Given the description of an element on the screen output the (x, y) to click on. 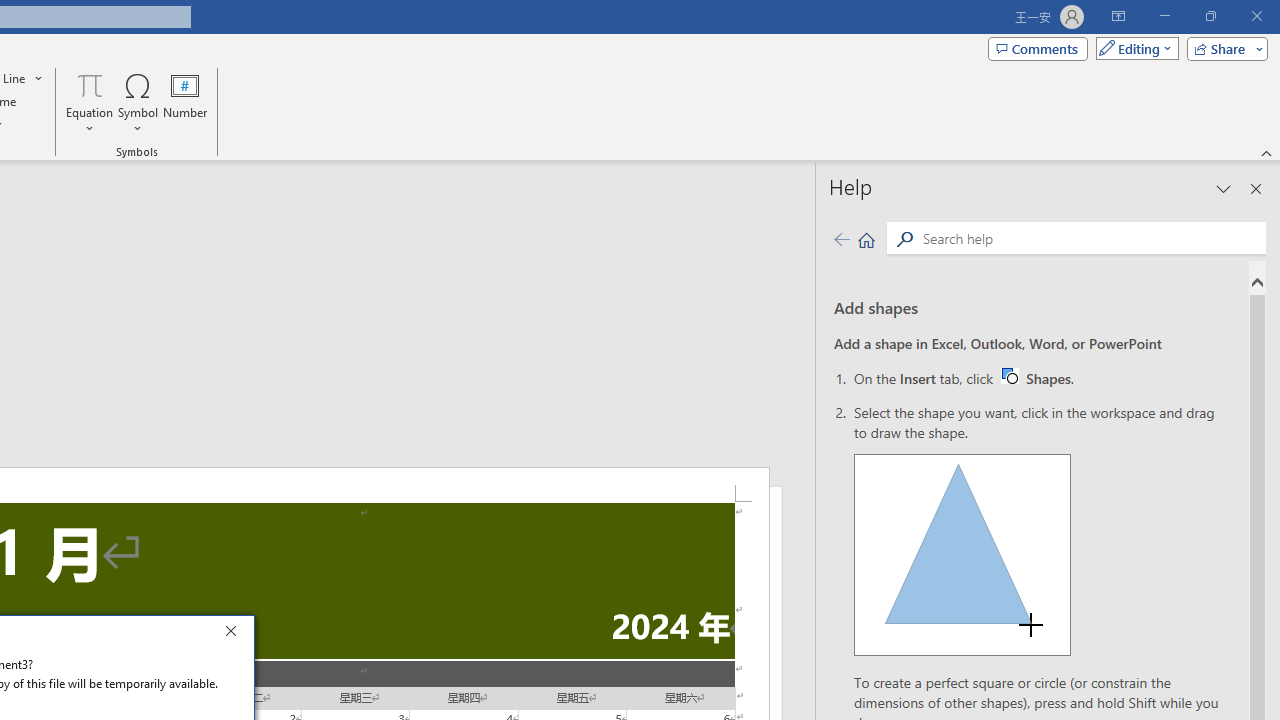
Mode (1133, 47)
Share (1223, 48)
Minimize (1164, 16)
Close (236, 633)
More Options (90, 121)
Ribbon Display Options (1118, 16)
Collapse the Ribbon (1267, 152)
Comments (1038, 48)
Previous page (841, 238)
